Given the description of an element on the screen output the (x, y) to click on. 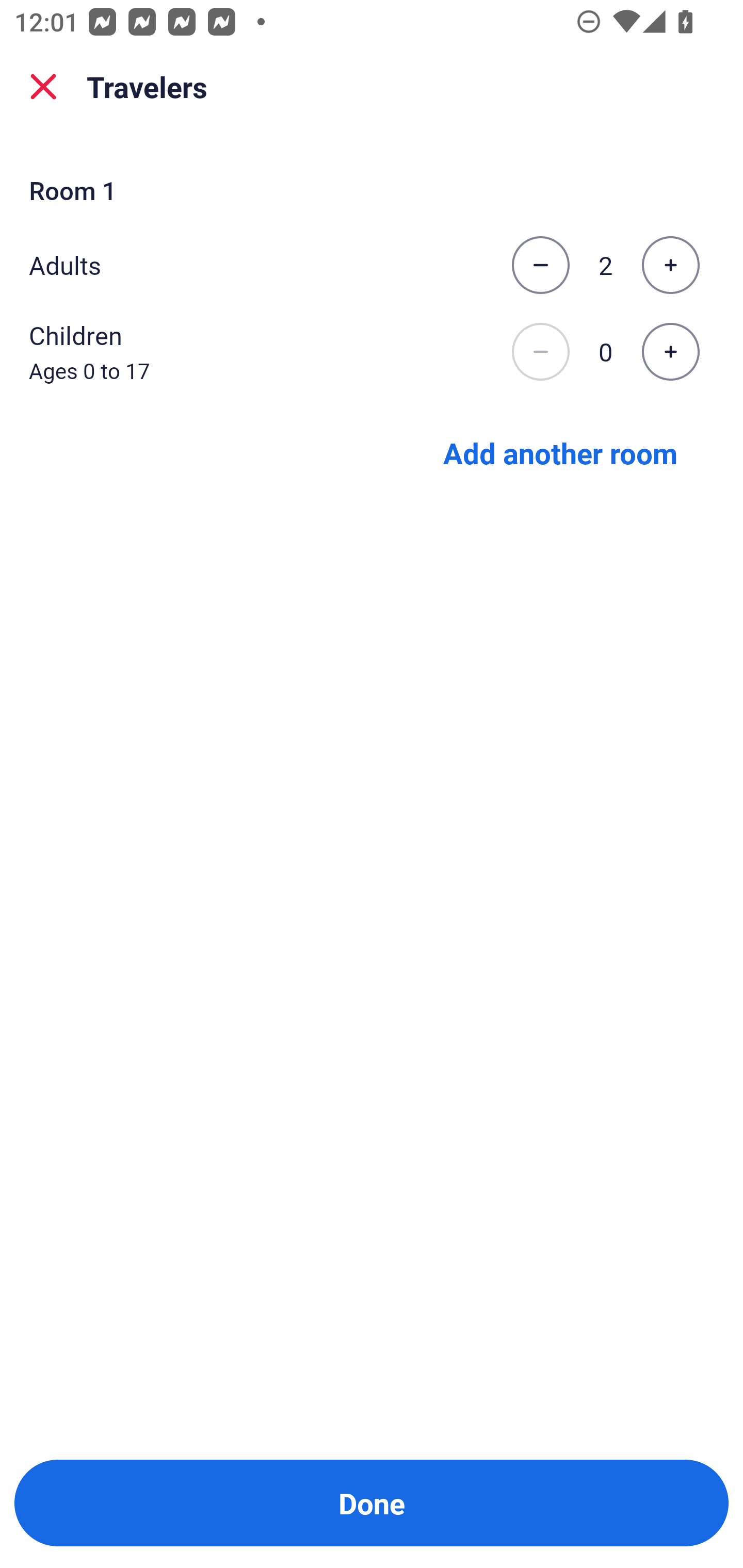
close (43, 86)
Decrease the number of adults (540, 264)
Increase the number of adults (670, 264)
Decrease the number of children (540, 351)
Increase the number of children (670, 351)
Add another room (560, 452)
Done (371, 1502)
